Given the description of an element on the screen output the (x, y) to click on. 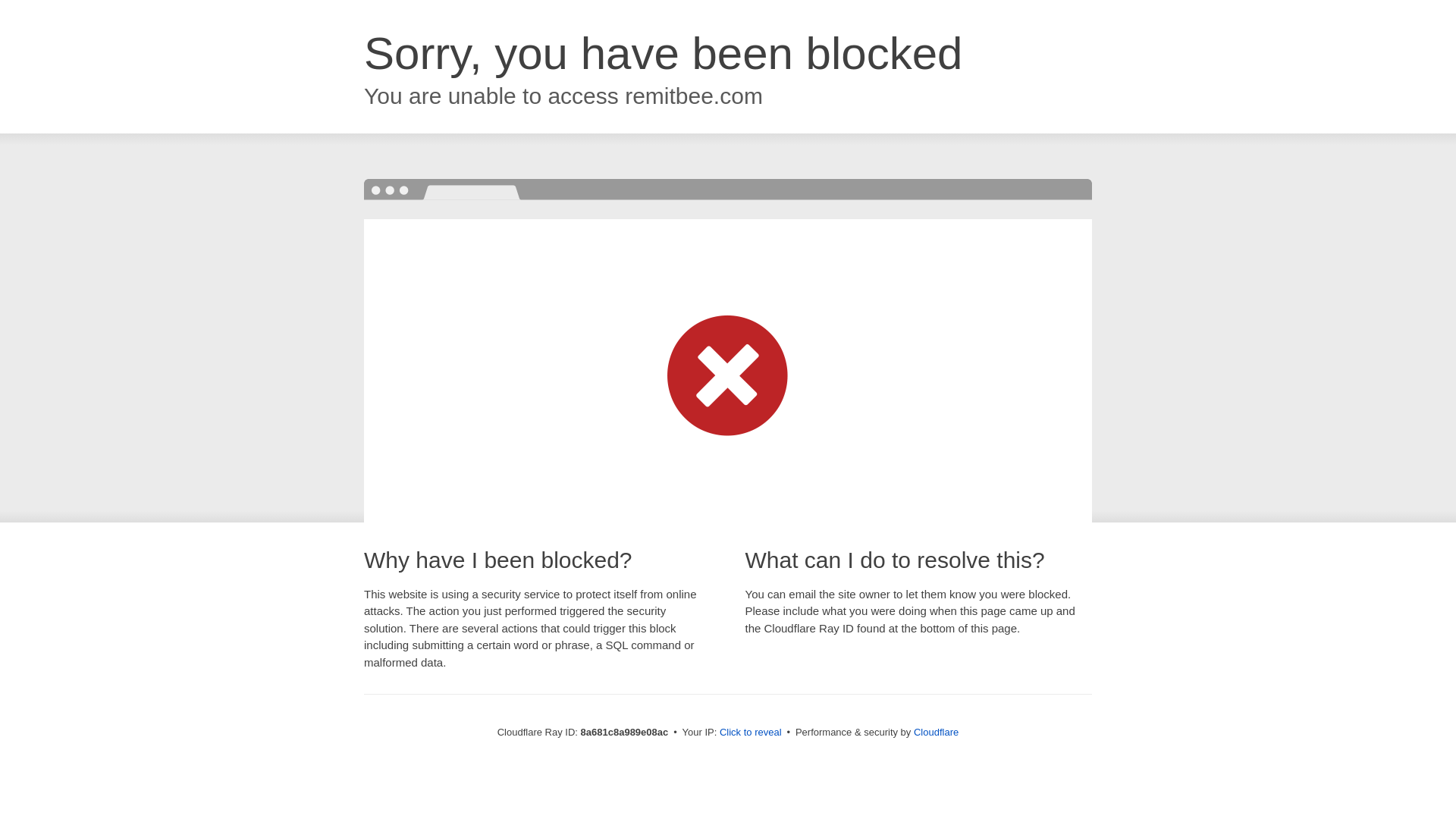
Click to reveal (750, 732)
Cloudflare (936, 731)
